Given the description of an element on the screen output the (x, y) to click on. 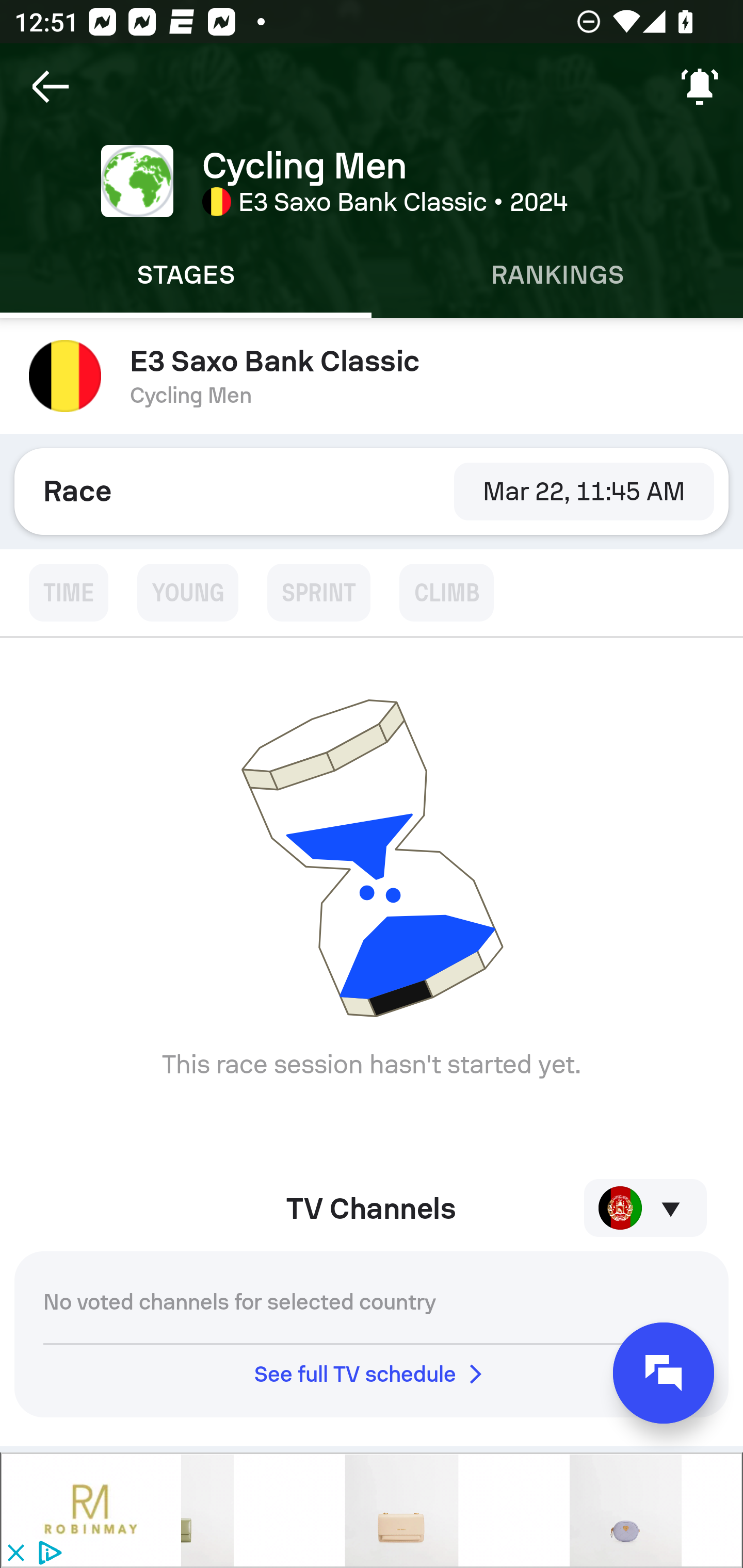
Navigate up (50, 86)
Rankings RANKINGS (557, 275)
Race Mar 22, 11:45 AM (371, 491)
Mar 22, 11:45 AM (583, 491)
CHAT (663, 1372)
See full TV schedule (371, 1374)
privacy_small close_button                      (371, 1509)
close_button (14, 1553)
privacy_small (47, 1553)
